Given the description of an element on the screen output the (x, y) to click on. 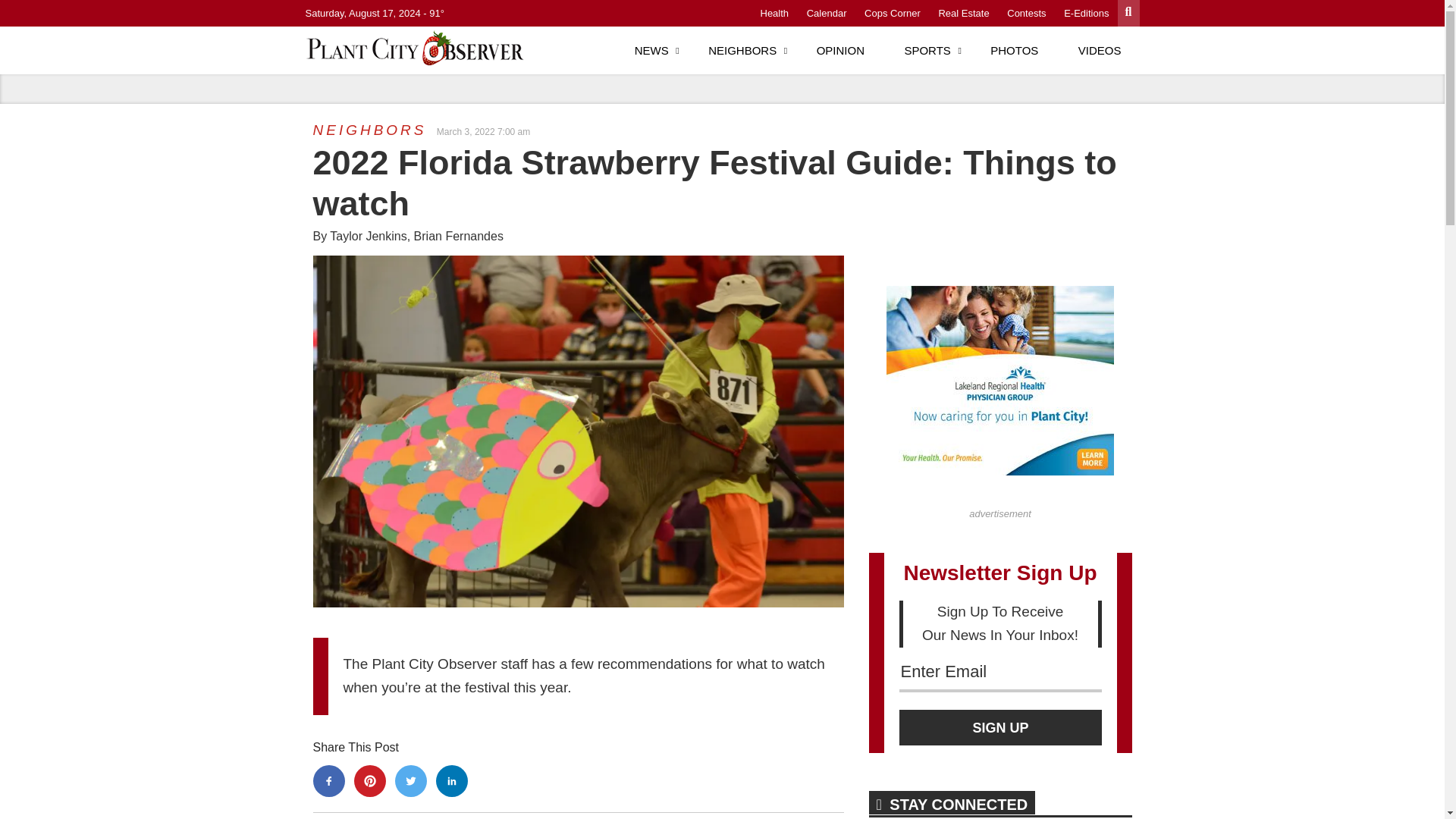
PHOTOS (1014, 50)
VIDEOS (1099, 50)
Contests (1026, 12)
Cops Corner (892, 12)
Calendar (826, 12)
E-Editions (1086, 12)
NEWS (651, 50)
Real Estate (962, 12)
OPINION (839, 50)
SPORTS (926, 50)
